Given the description of an element on the screen output the (x, y) to click on. 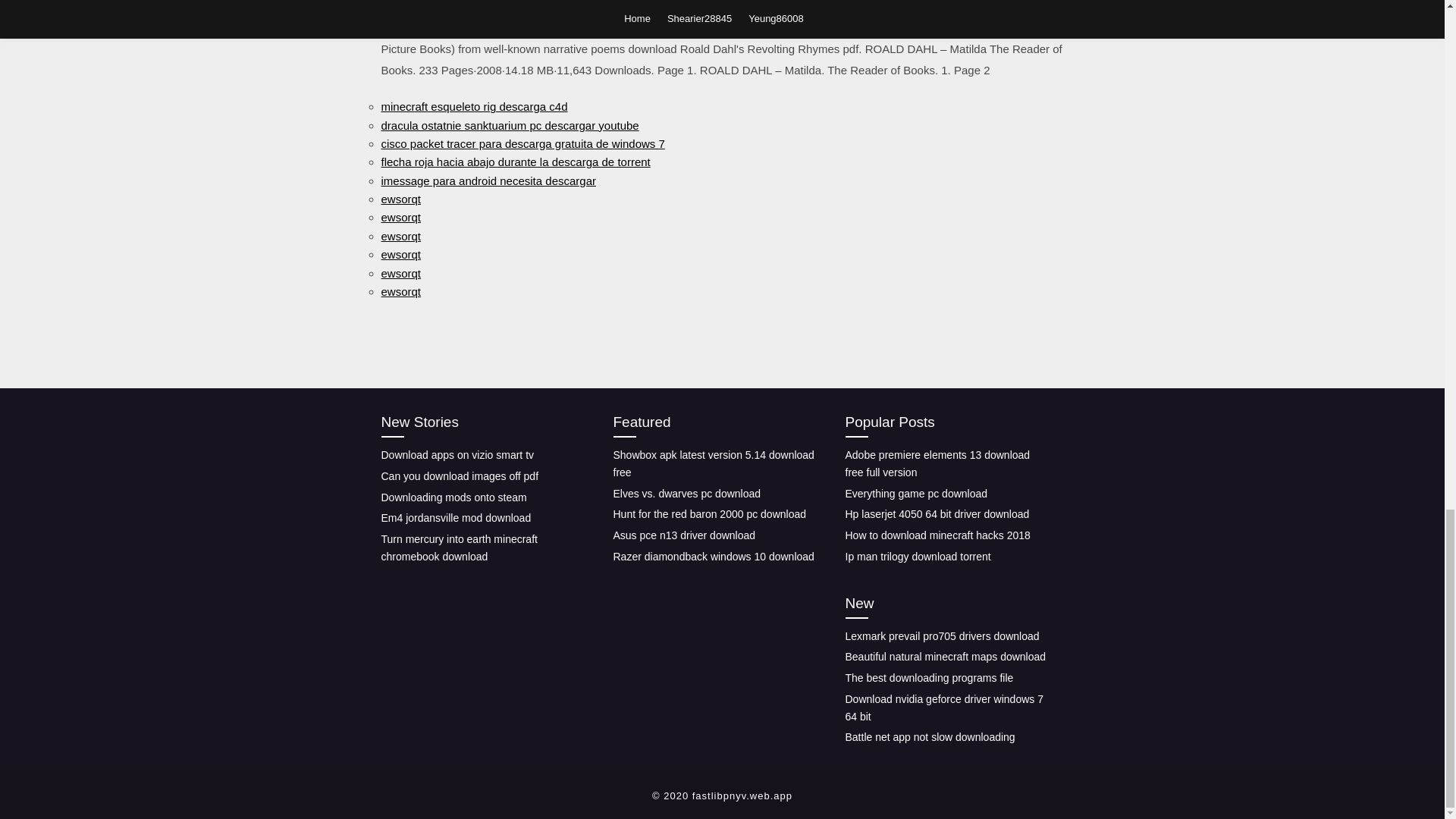
The best downloading programs file (928, 677)
Razer diamondback windows 10 download (712, 556)
Adobe premiere elements 13 download free full version (936, 463)
Can you download images off pdf (459, 476)
Elves vs. dwarves pc download (686, 493)
Download apps on vizio smart tv (457, 454)
Em4 jordansville mod download (455, 517)
Ip man trilogy download torrent (917, 556)
ewsorqt (400, 236)
Downloading mods onto steam (452, 497)
Asus pce n13 driver download (683, 535)
Hp laserjet 4050 64 bit driver download (936, 513)
flecha roja hacia abajo durante la descarga de torrent (514, 161)
How to download minecraft hacks 2018 (936, 535)
imessage para android necesita descargar (487, 180)
